Given the description of an element on the screen output the (x, y) to click on. 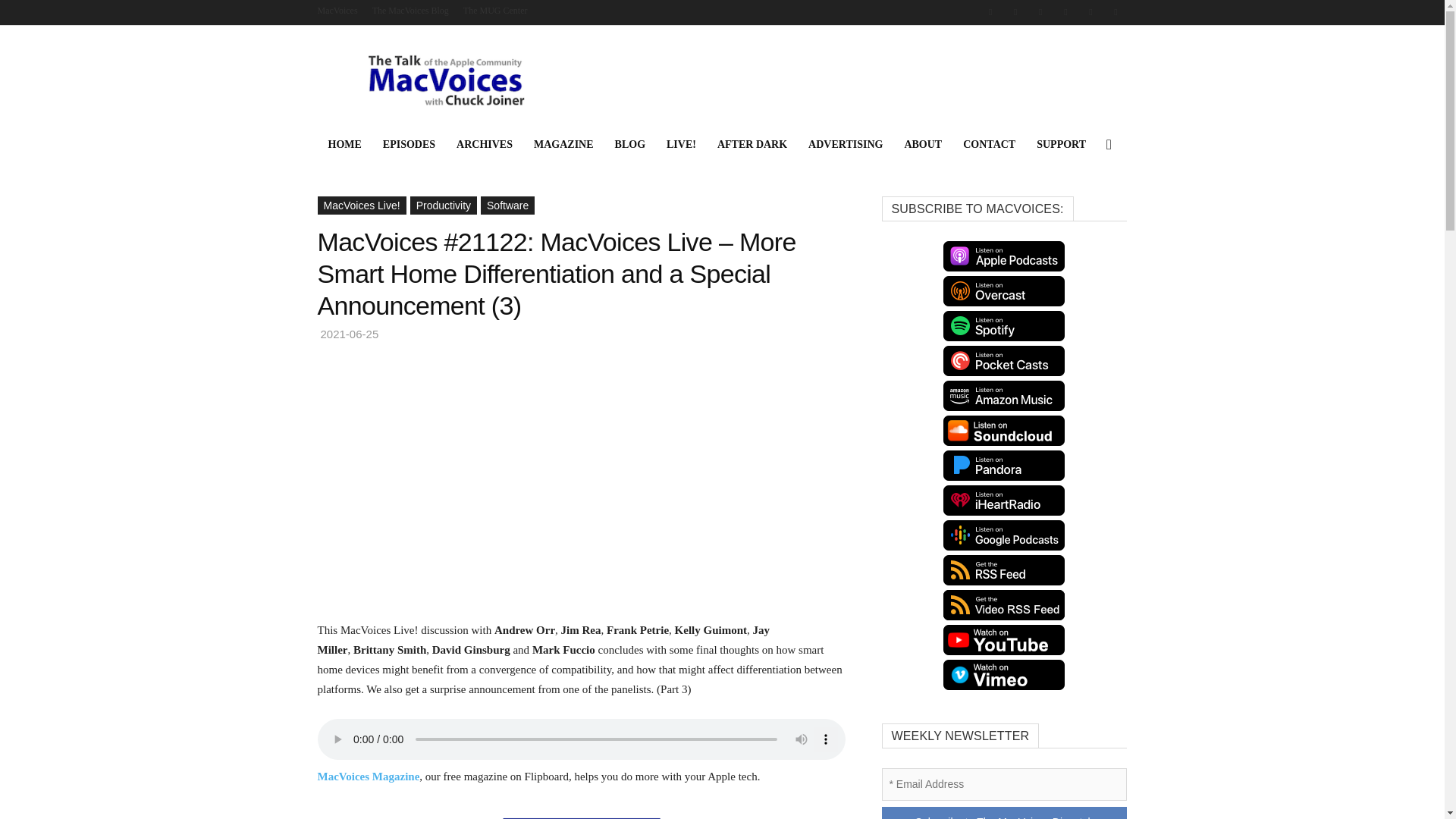
Facebook (989, 12)
The MacVoices Blog (410, 9)
Twitter (1065, 12)
Subscribe to The MacVoices Dispatch (1003, 812)
HOME (344, 144)
Youtube (1114, 12)
ARCHIVES (483, 144)
Vimeo (1090, 12)
Soundcloud (1040, 12)
Magazine (563, 144)
EPISODES (408, 144)
The MUG Center (495, 9)
YouTube video player (529, 474)
Linkedin (1015, 12)
Support (1061, 144)
